Given the description of an element on the screen output the (x, y) to click on. 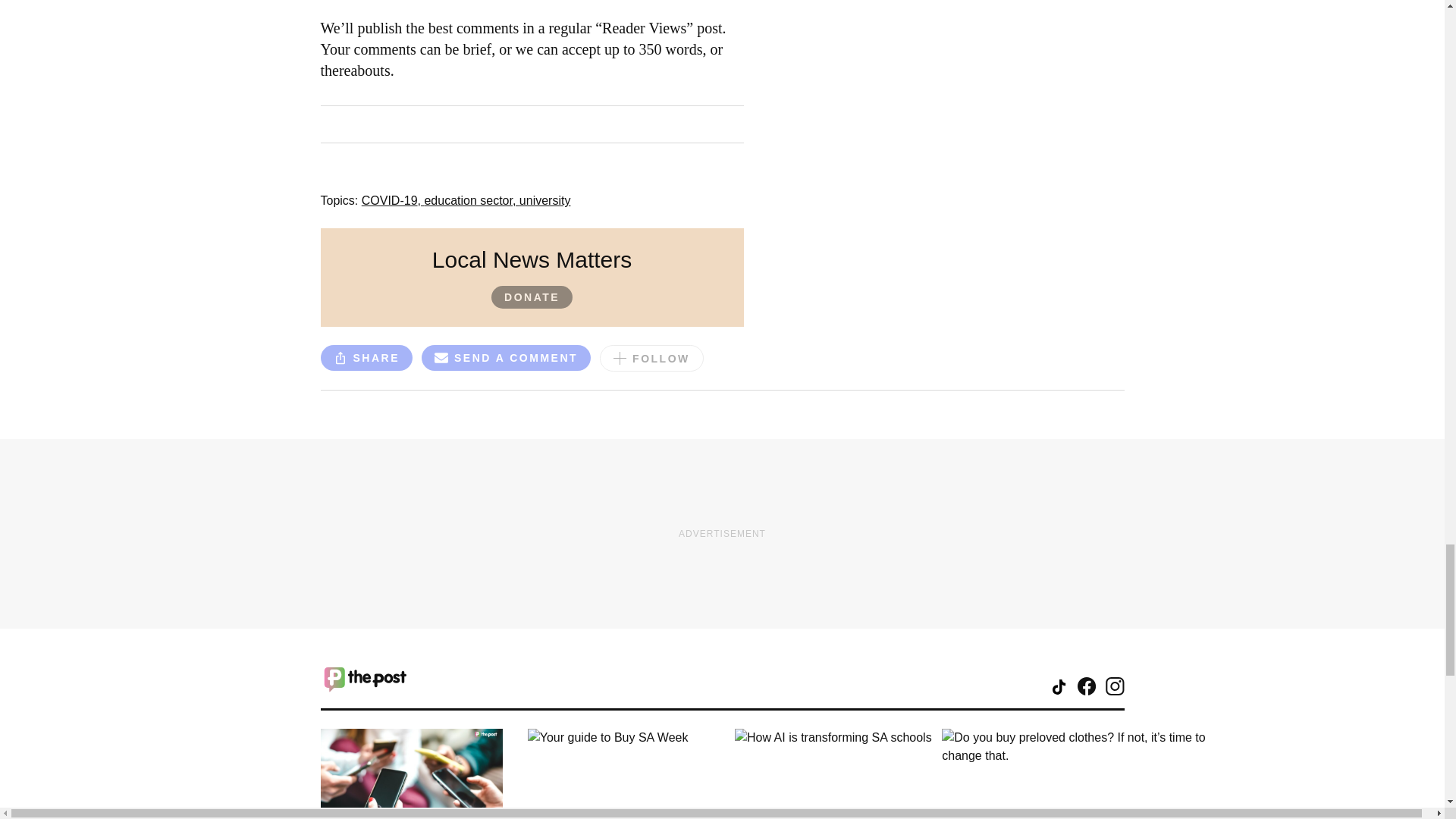
SHARE (366, 357)
education sector, (470, 200)
university (544, 200)
DONATE (532, 296)
SEND A COMMENT (506, 357)
FOLLOW (651, 357)
SEND A COMMENT (506, 359)
COVID-19, (393, 200)
